Given the description of an element on the screen output the (x, y) to click on. 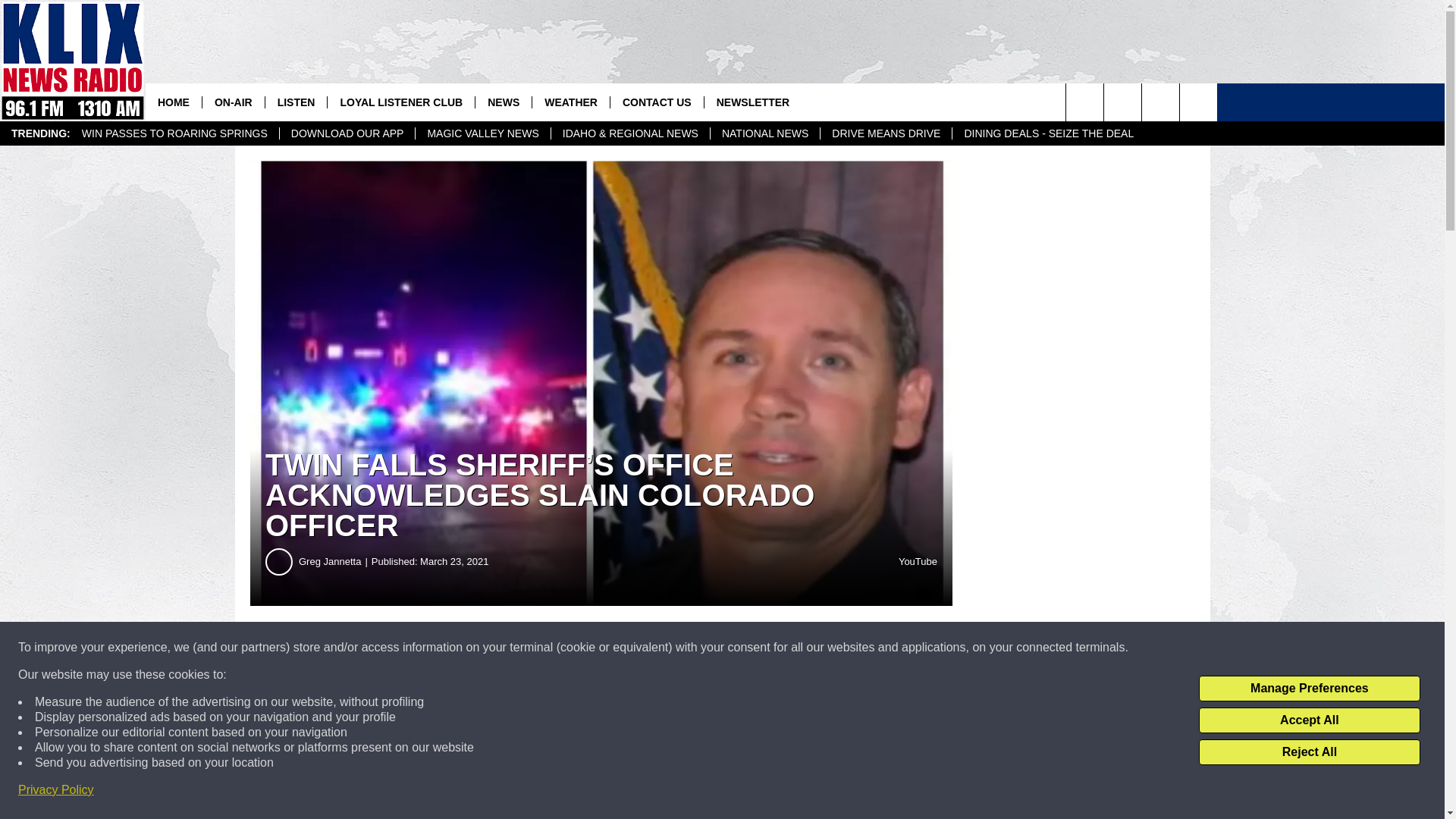
LOYAL LISTENER CLUB (400, 102)
Manage Preferences (1309, 688)
Reject All (1309, 751)
ON-AIR (233, 102)
Share on Facebook (460, 647)
HOME (173, 102)
NATIONAL NEWS (764, 133)
WIN PASSES TO ROARING SPRINGS (174, 133)
DINING DEALS - SEIZE THE DEAL (1048, 133)
Privacy Policy (55, 789)
MAGIC VALLEY NEWS (482, 133)
LISTEN (295, 102)
Share on Twitter (741, 647)
Accept All (1309, 720)
DOWNLOAD OUR APP (346, 133)
